Given the description of an element on the screen output the (x, y) to click on. 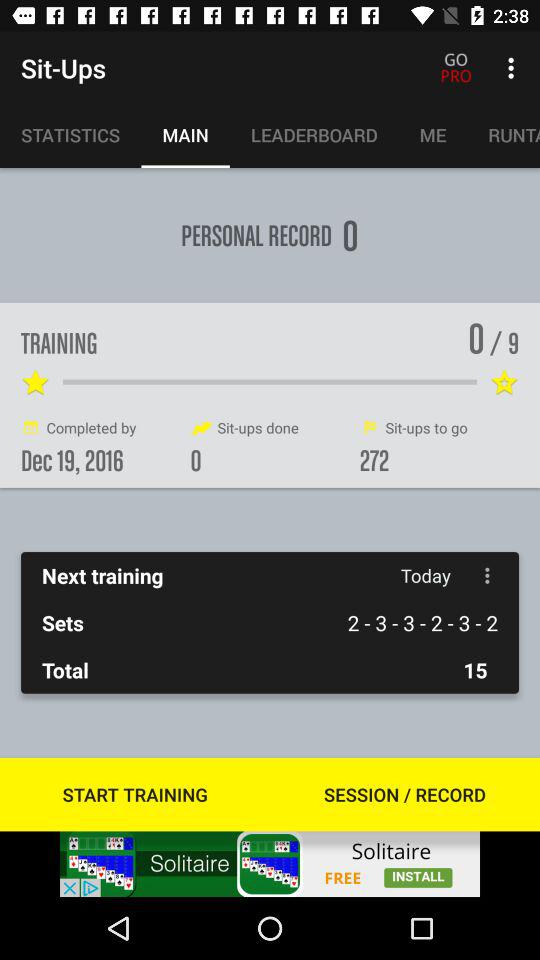
menu page (487, 575)
